Given the description of an element on the screen output the (x, y) to click on. 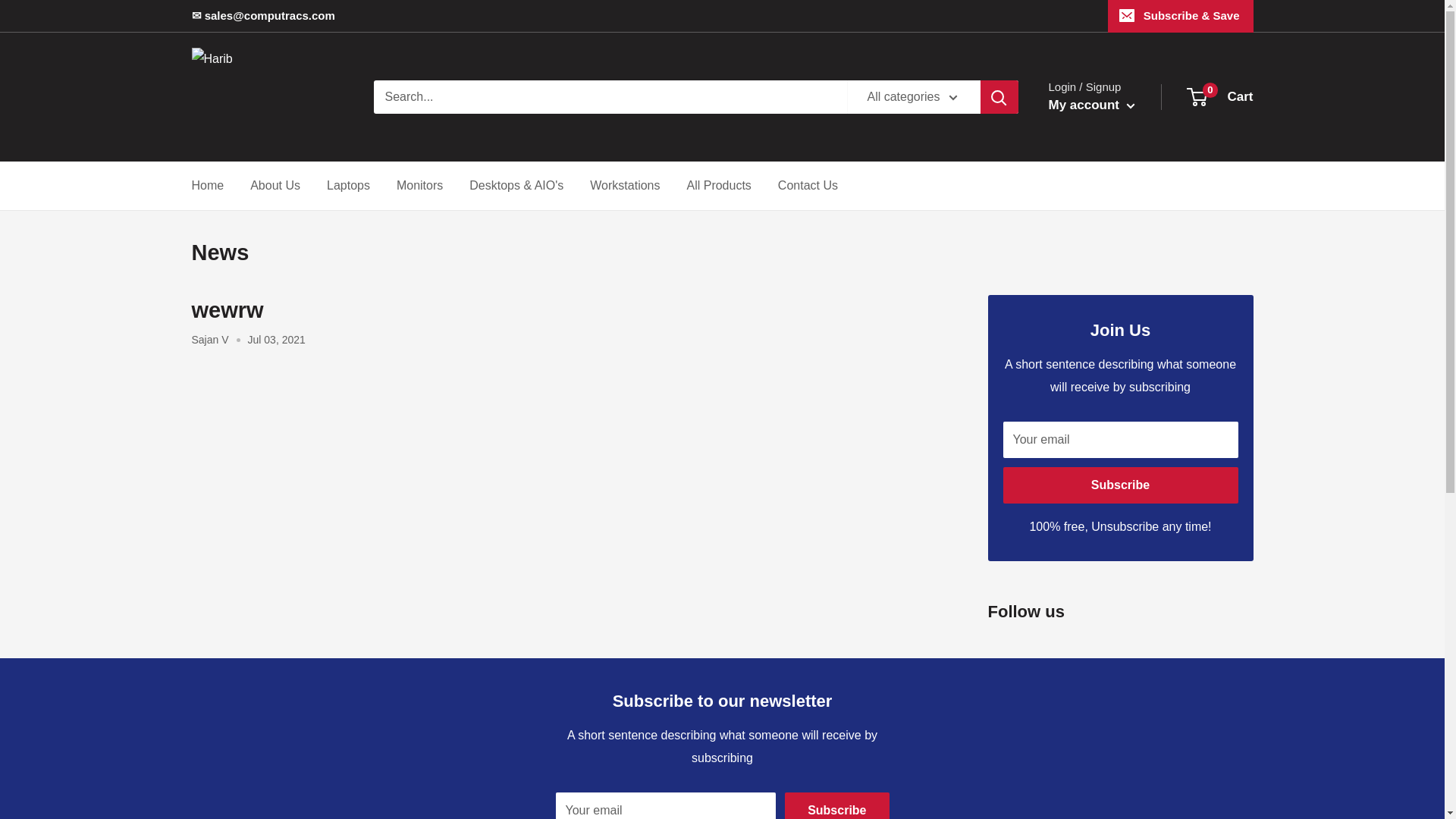
wewrw (226, 310)
All Products (718, 185)
Monitors (419, 185)
About Us (274, 185)
Contact Us (807, 185)
Harib (266, 96)
Workstations (1220, 96)
Laptops (624, 185)
Home (347, 185)
